Given the description of an element on the screen output the (x, y) to click on. 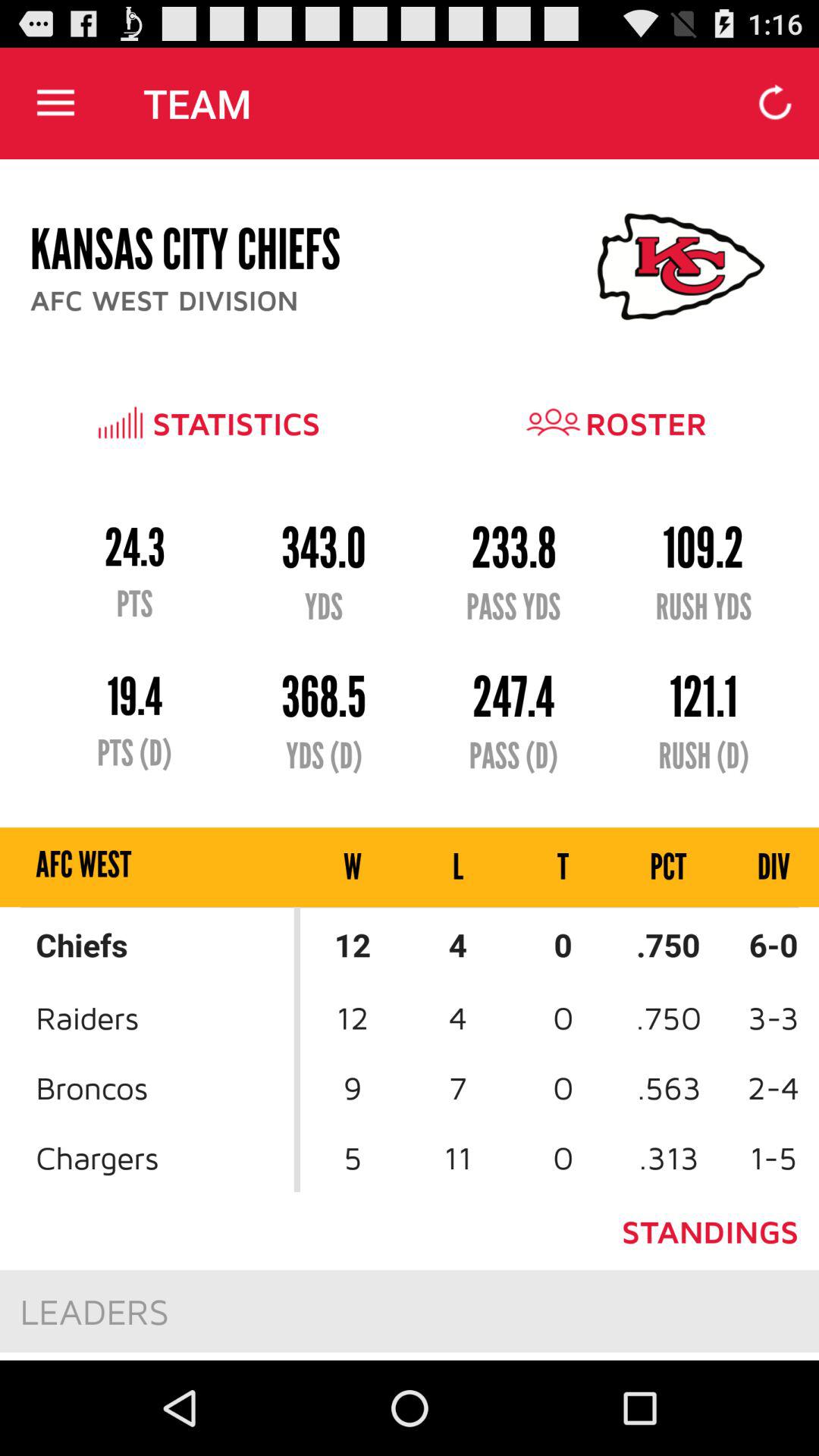
turn on app next to the team item (55, 103)
